Given the description of an element on the screen output the (x, y) to click on. 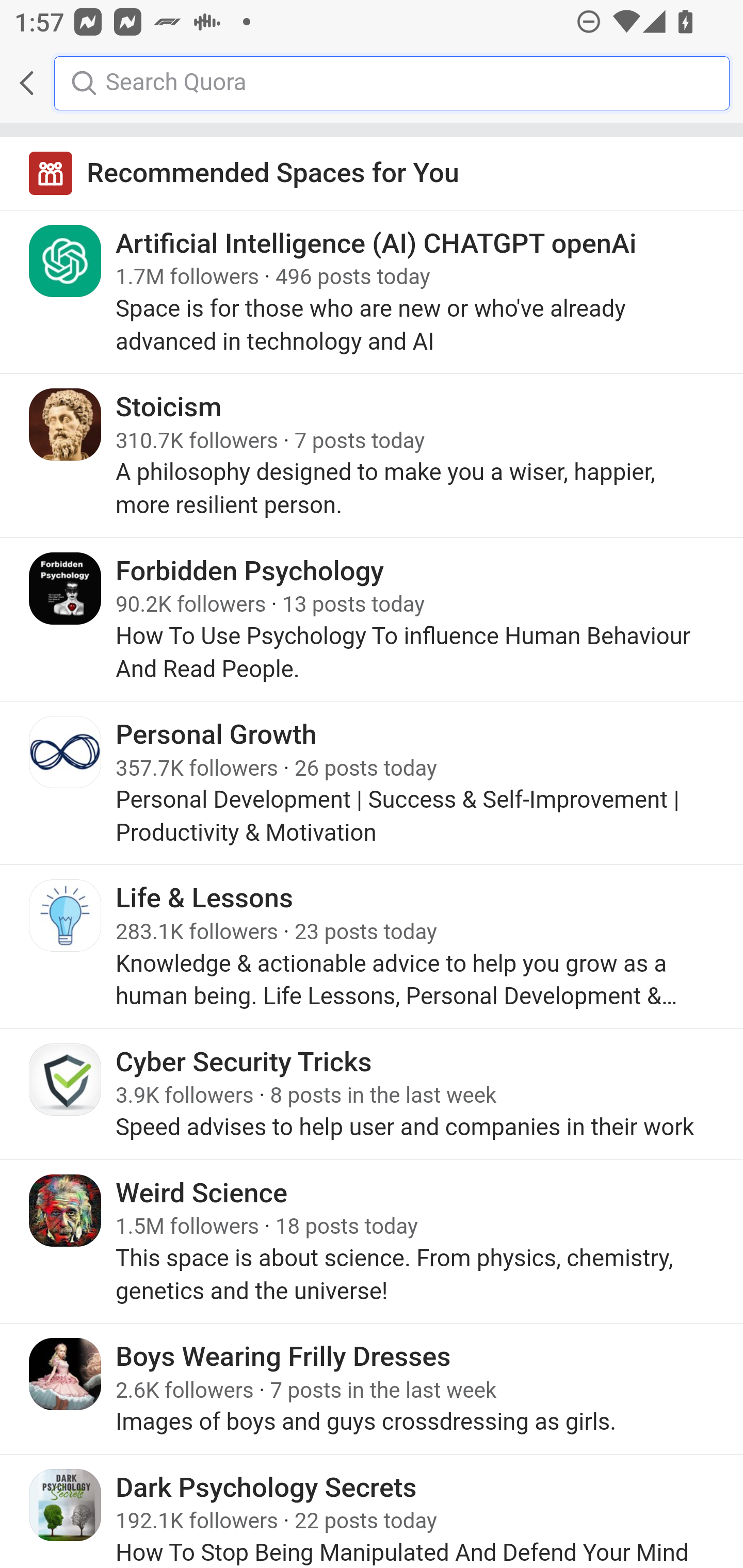
Me (64, 83)
Icon for Stoicism (65, 424)
Icon for Forbidden Psychology (65, 587)
Icon for Personal Growth (65, 751)
Icon for Life & Lessons (65, 916)
Icon for Cyber Security Tricks (65, 1078)
Icon for Weird Science (65, 1209)
Icon for Boys Wearing Frilly Dresses (65, 1374)
Icon for Dark Psychology Secrets (65, 1504)
